Given the description of an element on the screen output the (x, y) to click on. 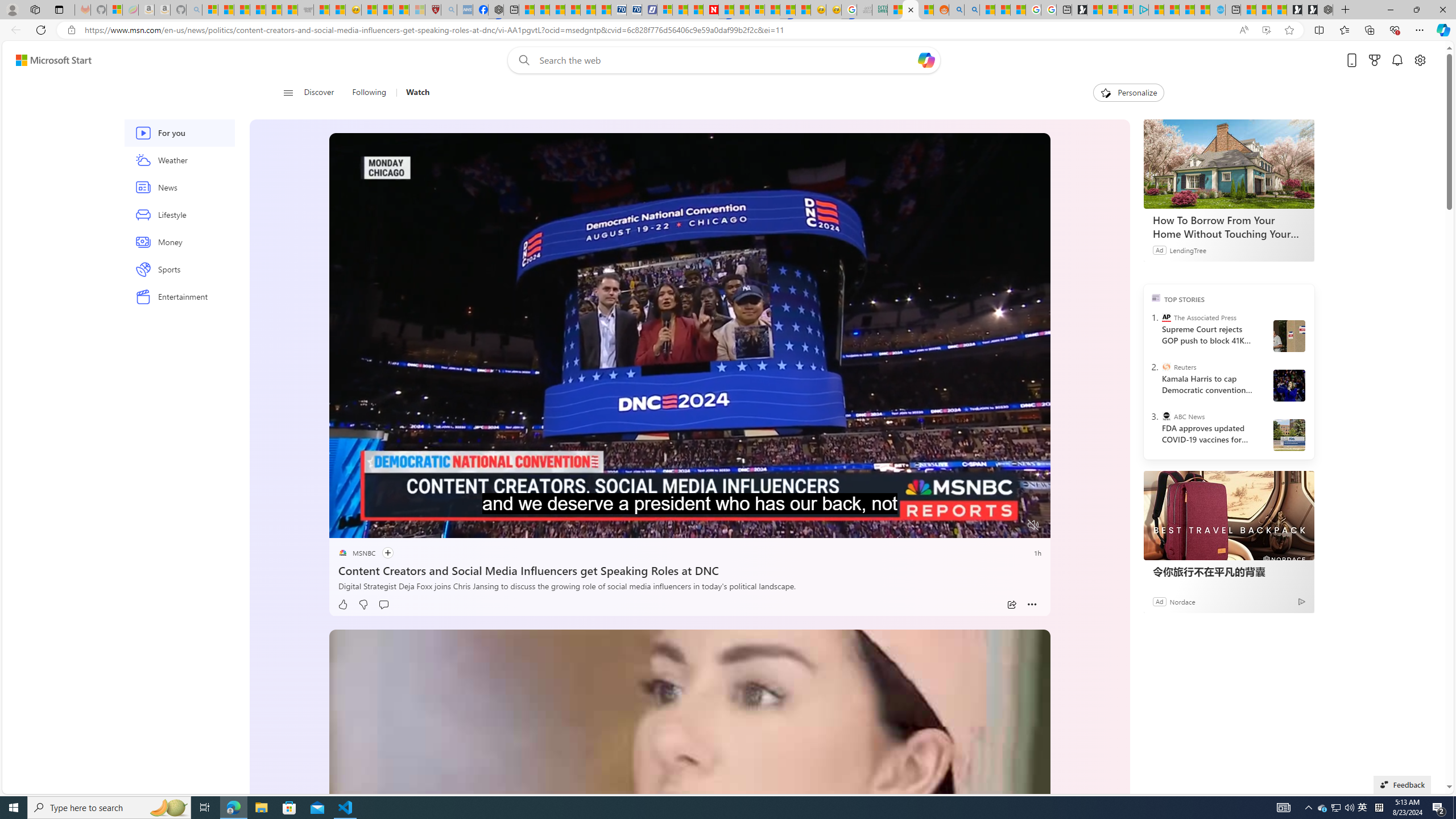
Quality Settings (964, 525)
